Given the description of an element on the screen output the (x, y) to click on. 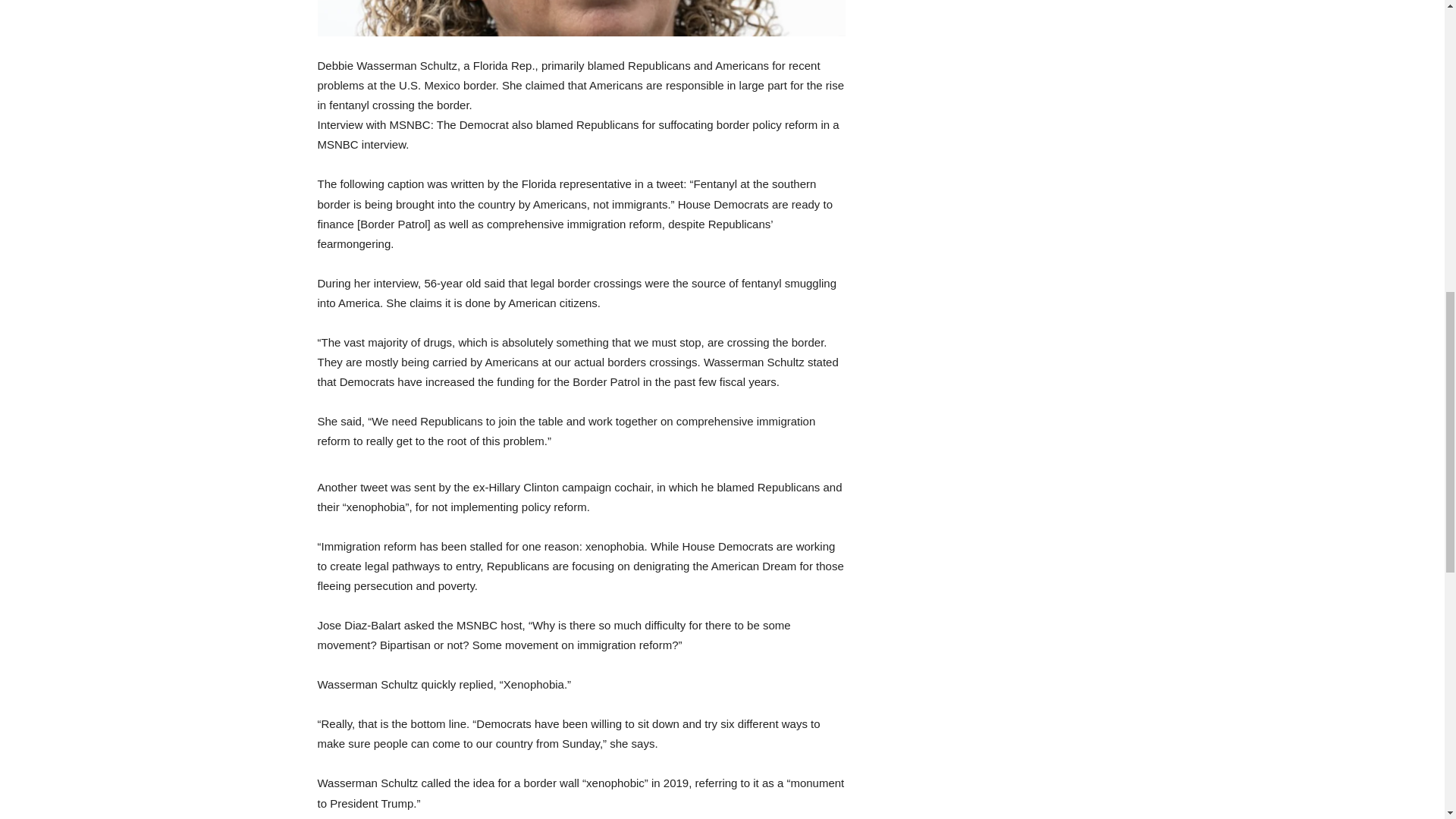
0315fentanyl (580, 18)
